Given the description of an element on the screen output the (x, y) to click on. 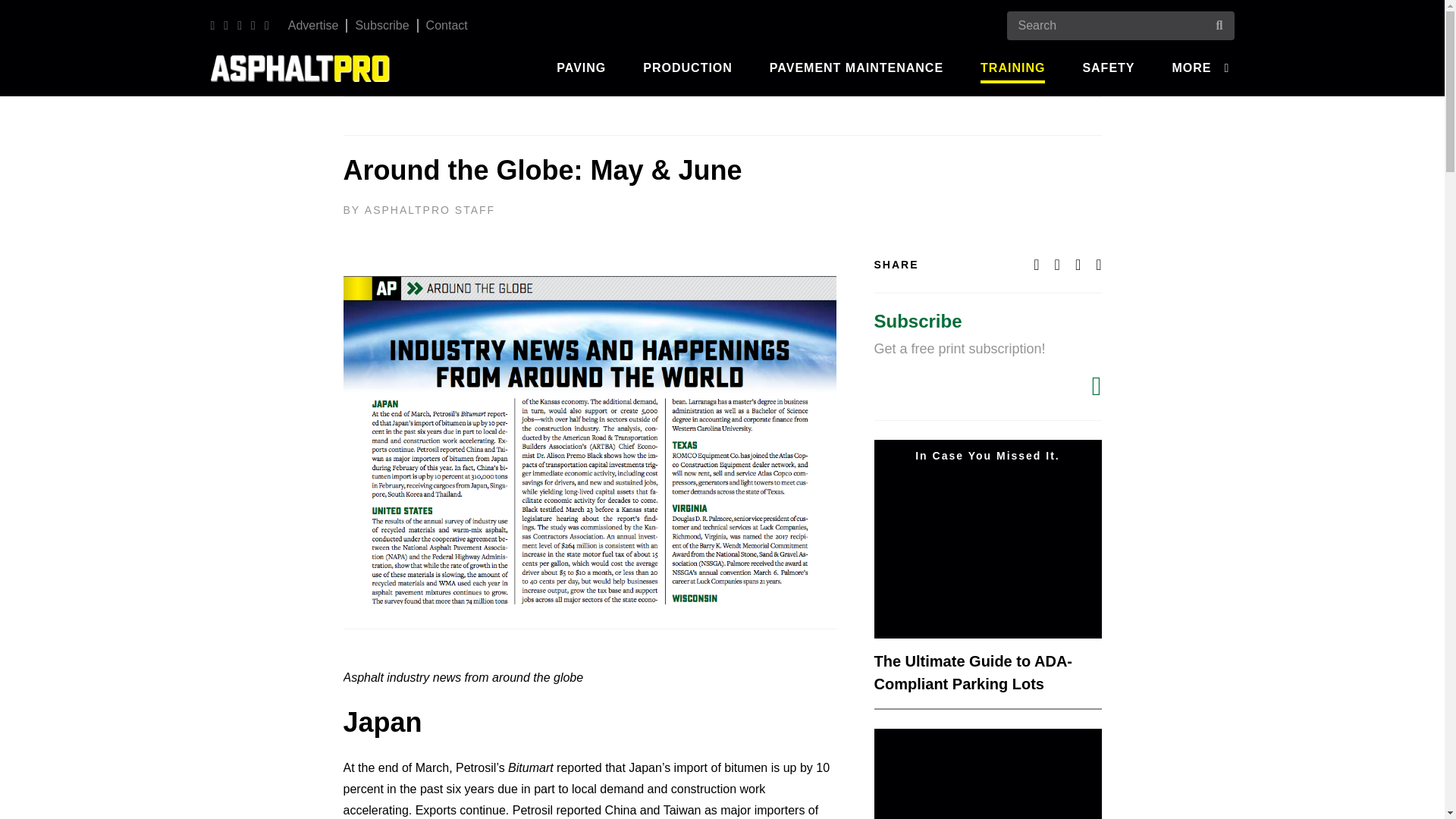
Contact (447, 25)
Subscribe (381, 25)
Advertise (313, 25)
Search (25, 9)
